Given the description of an element on the screen output the (x, y) to click on. 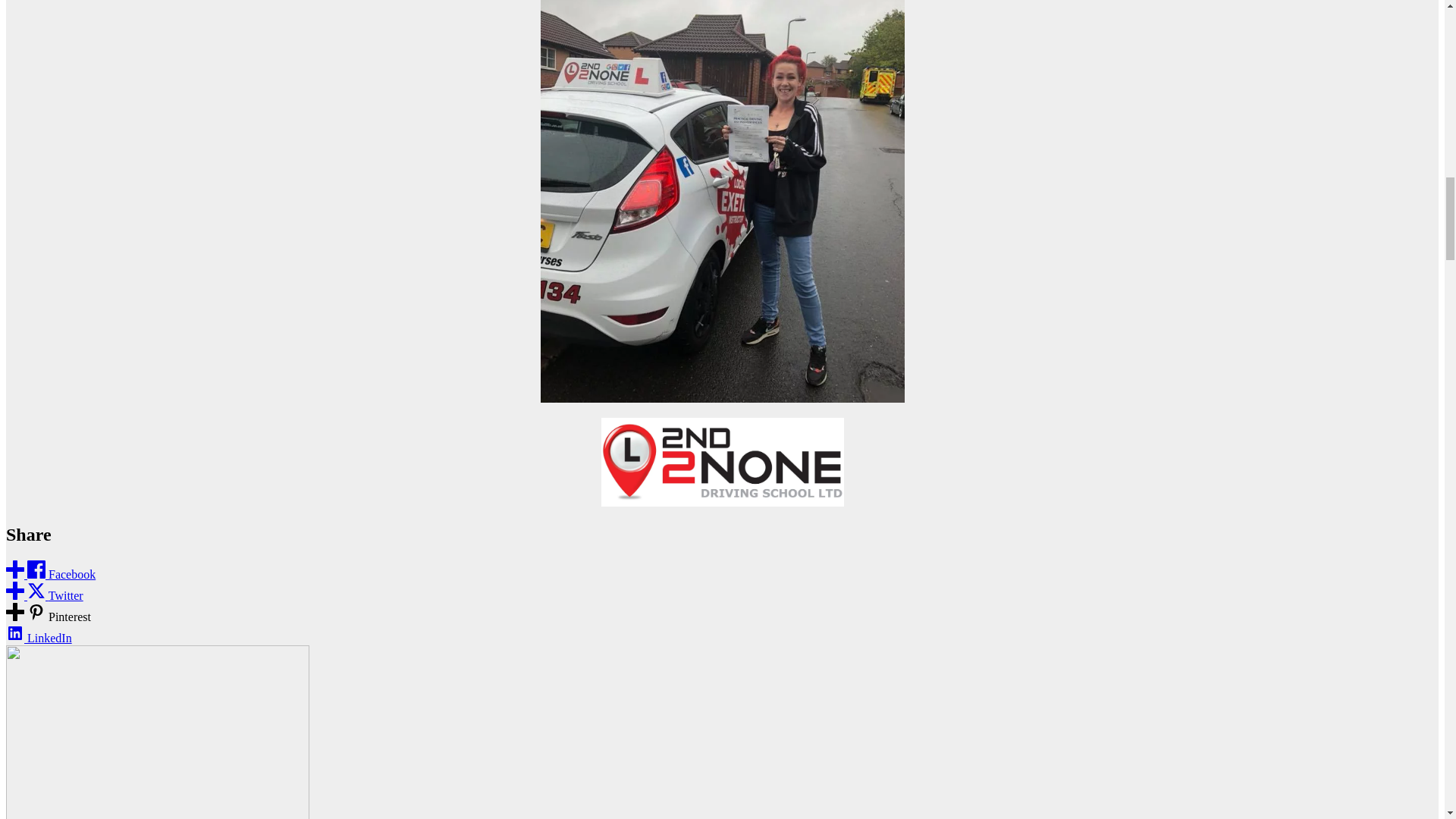
Pinterest (47, 616)
Facebook (50, 574)
LinkedIn (38, 637)
Twitter (43, 594)
